Given the description of an element on the screen output the (x, y) to click on. 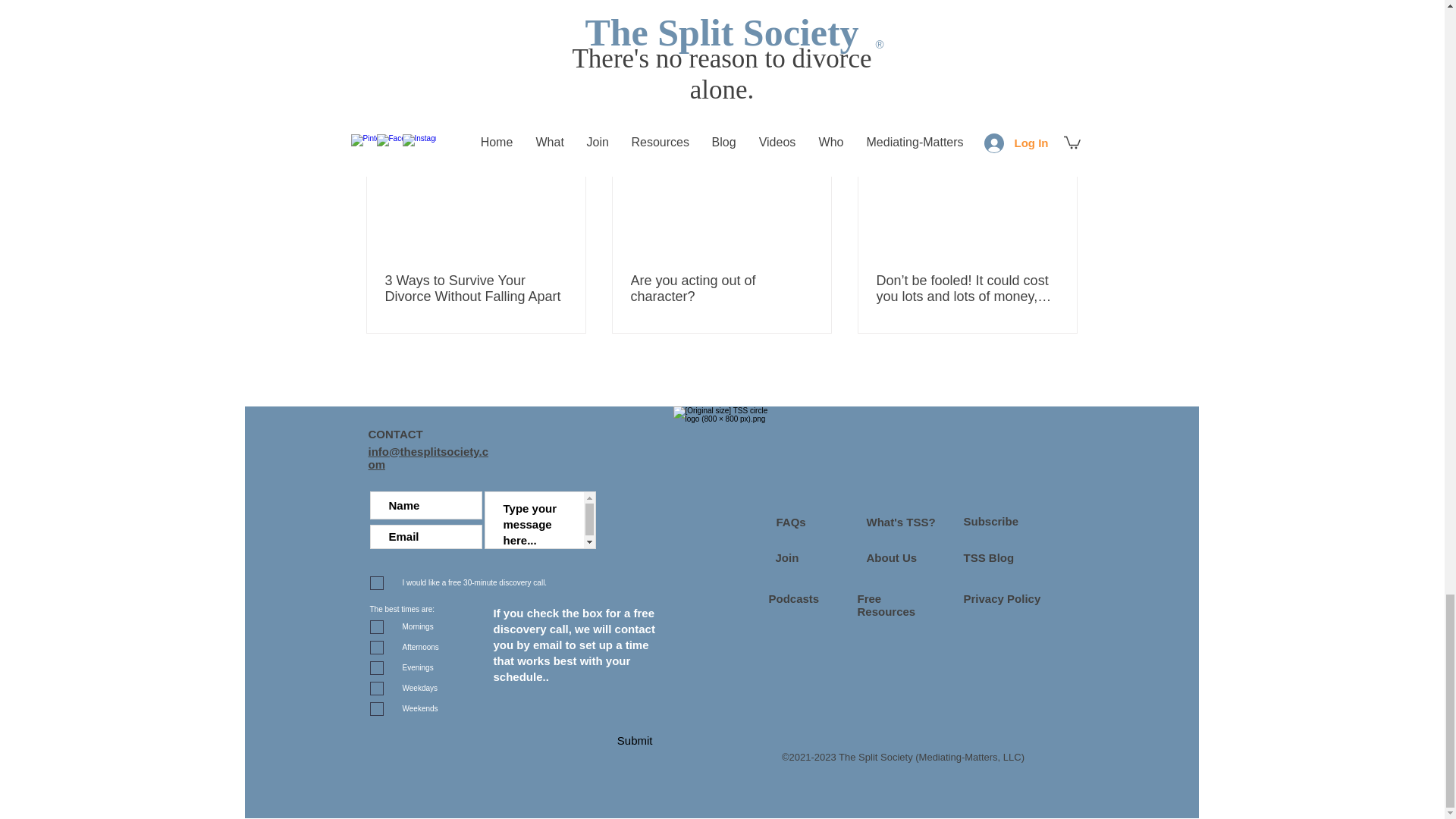
See All (1061, 105)
Emotional Support (959, 6)
FAQs (791, 521)
Join (785, 557)
Submit (608, 741)
In The News (869, 6)
3 Ways to Survive Your Divorce Without Falling Apart (476, 288)
Are you acting out of character? (721, 288)
